Given the description of an element on the screen output the (x, y) to click on. 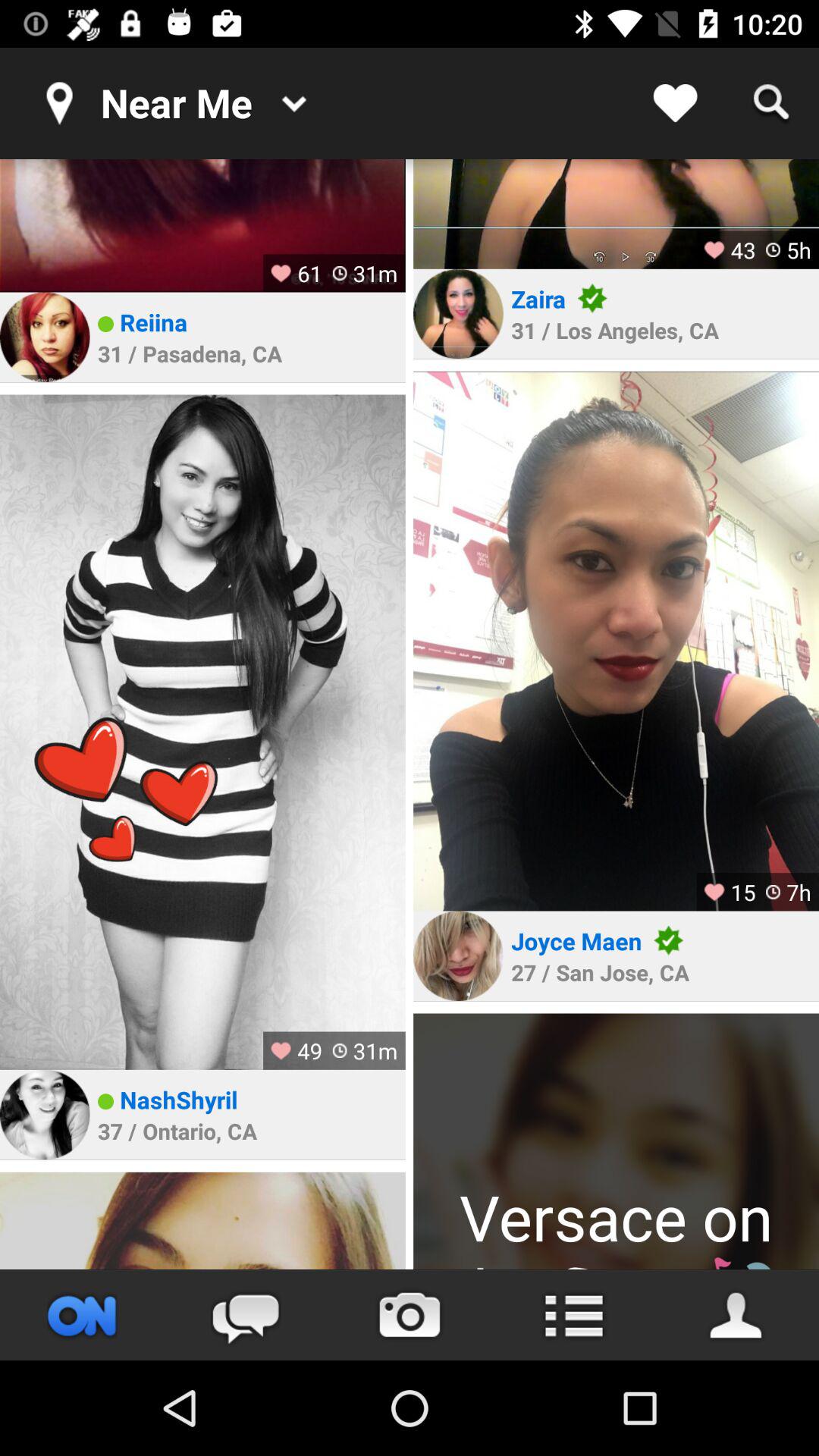
go to profile (737, 1315)
